Given the description of an element on the screen output the (x, y) to click on. 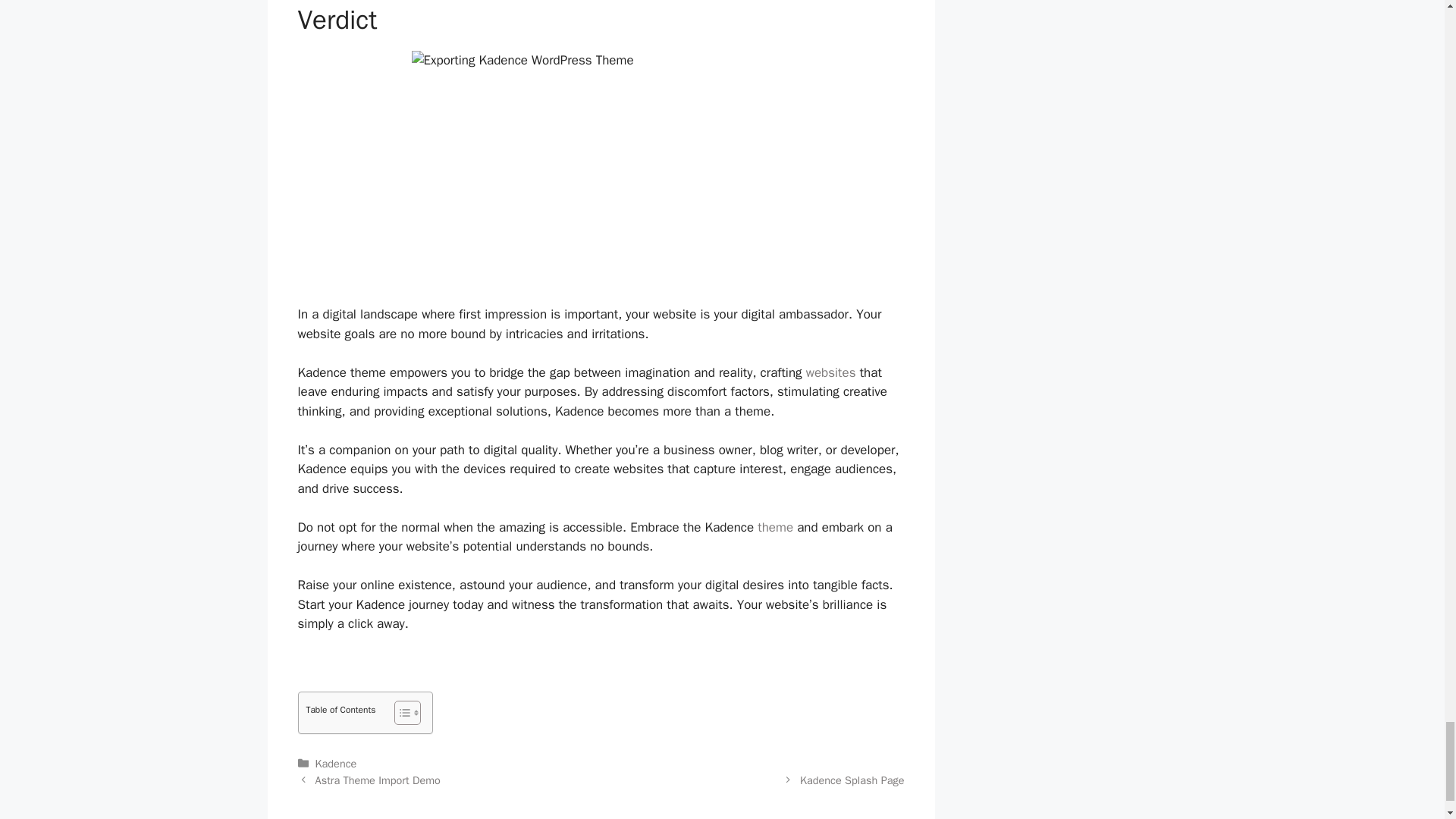
theme (775, 527)
Astra Theme Import Demo (378, 780)
websites (831, 372)
Kadence (335, 763)
Kadence Splash Page (851, 780)
